Given the description of an element on the screen output the (x, y) to click on. 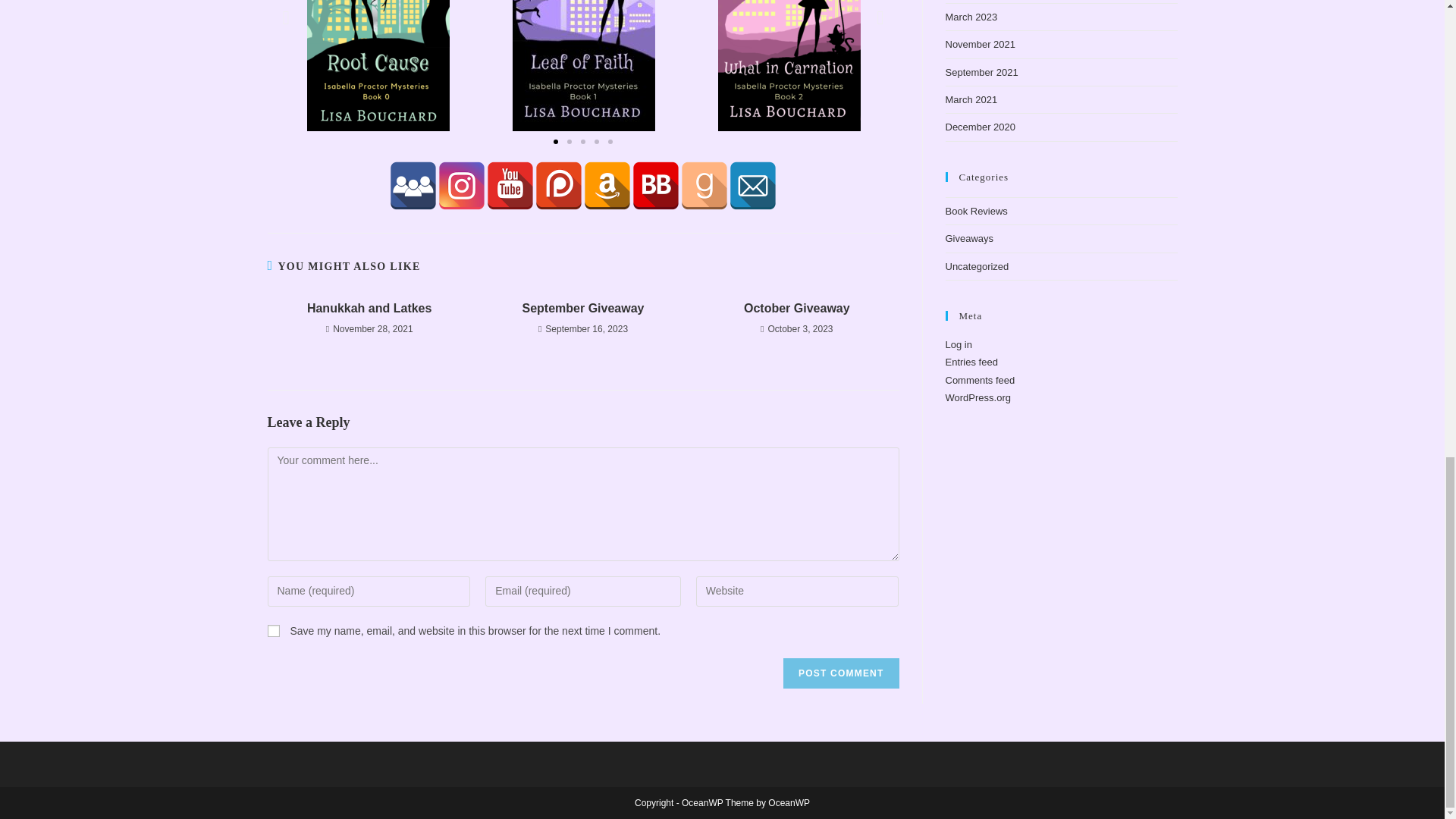
yes (272, 630)
Post Comment (840, 673)
